Given the description of an element on the screen output the (x, y) to click on. 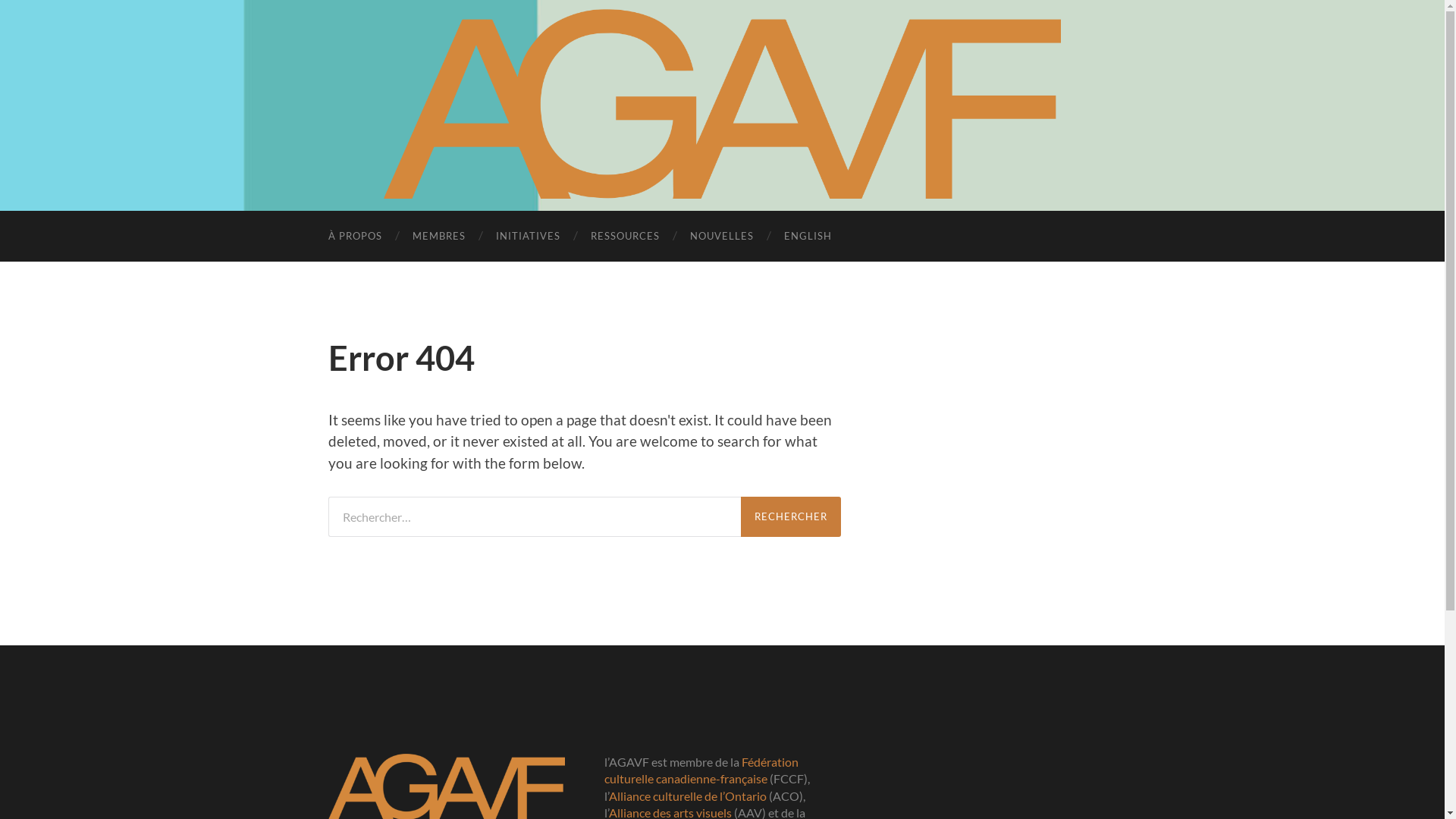
NOUVELLES Element type: text (721, 235)
RESSOURCES Element type: text (624, 235)
AGAVF Element type: text (721, 103)
Rechercher Element type: text (790, 516)
MEMBRES Element type: text (438, 235)
ENGLISH Element type: text (807, 235)
INITIATIVES Element type: text (527, 235)
